Given the description of an element on the screen output the (x, y) to click on. 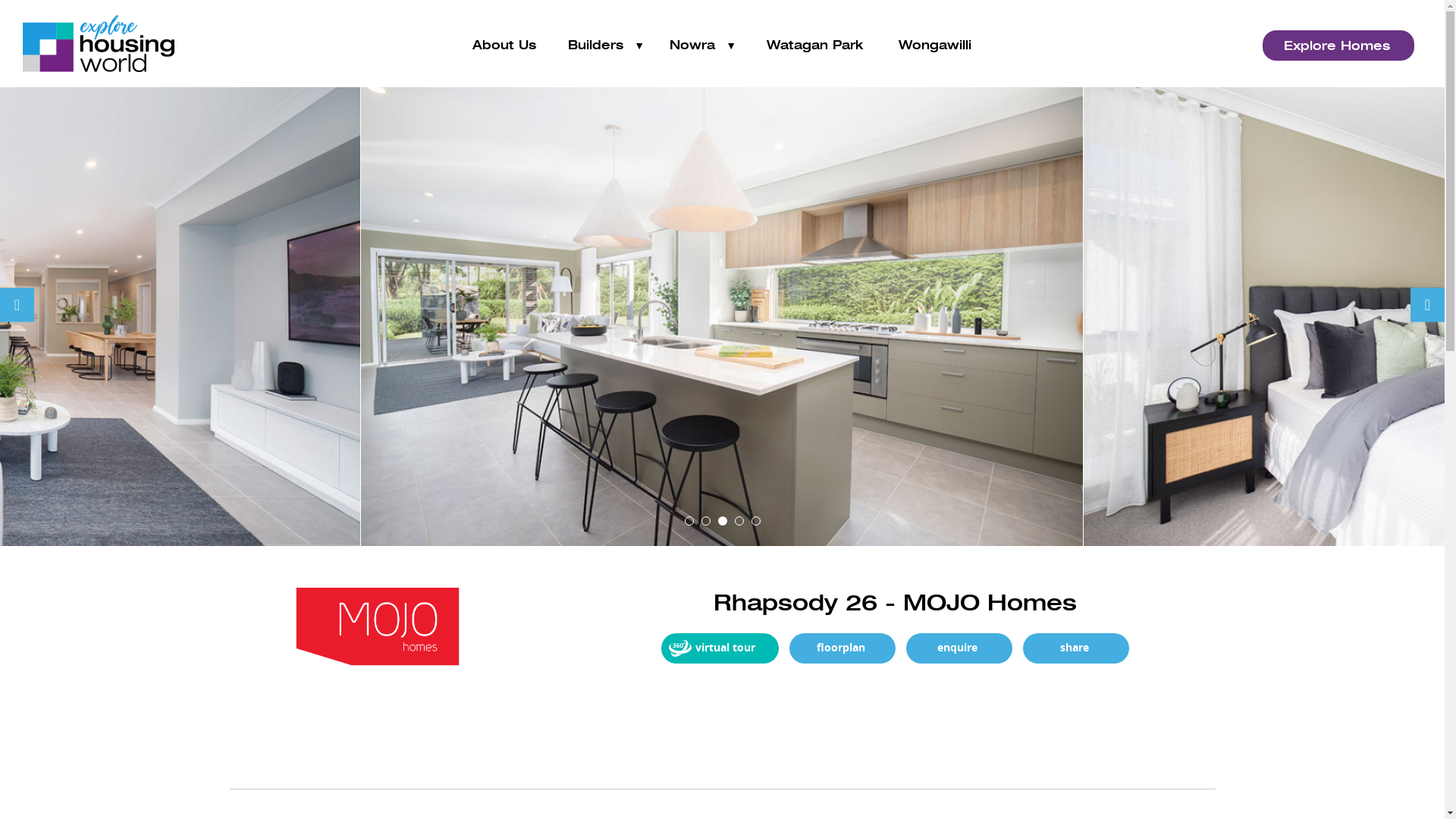
5 Element type: text (754, 520)
Builders Element type: text (604, 45)
floorplan Element type: text (841, 648)
enquire Element type: text (958, 648)
Next Element type: text (1427, 305)
About Us Element type: text (504, 45)
virtual tour Element type: text (719, 648)
3 Element type: text (721, 520)
Explore Homes Element type: text (1338, 45)
2 Element type: text (704, 520)
1 Element type: text (688, 520)
Watagan Park Element type: text (814, 45)
Wongawilli Element type: text (935, 45)
Nowra Element type: text (701, 45)
Previous Element type: text (17, 305)
4 Element type: text (738, 520)
share Element type: text (1075, 648)
